Given the description of an element on the screen output the (x, y) to click on. 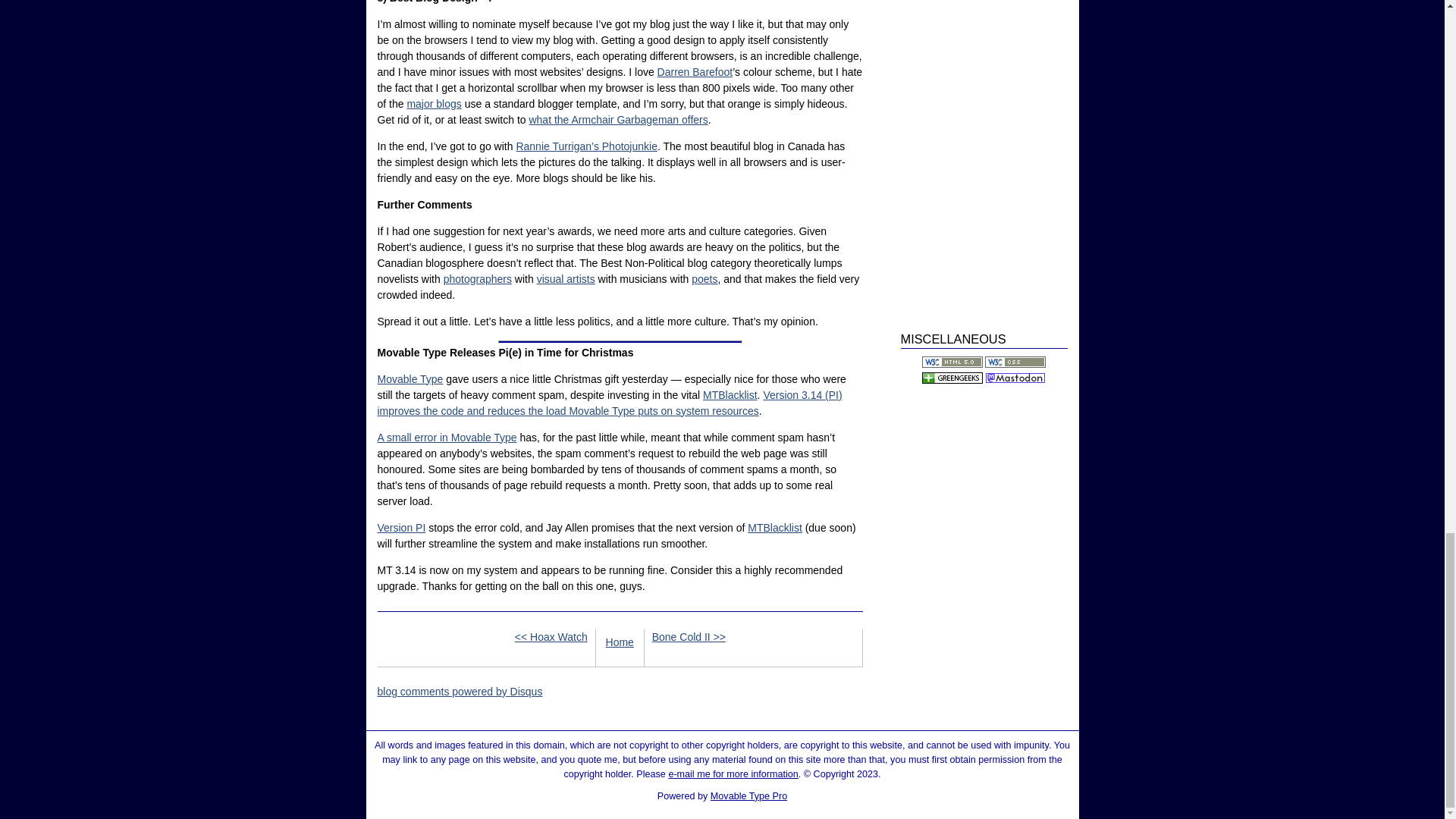
major blogs (433, 103)
what the Armchair Garbageman offers (617, 119)
Darren Barefoot (695, 71)
photographers (478, 278)
Hoax Watch (551, 636)
Bone Cold II (688, 636)
